Given the description of an element on the screen output the (x, y) to click on. 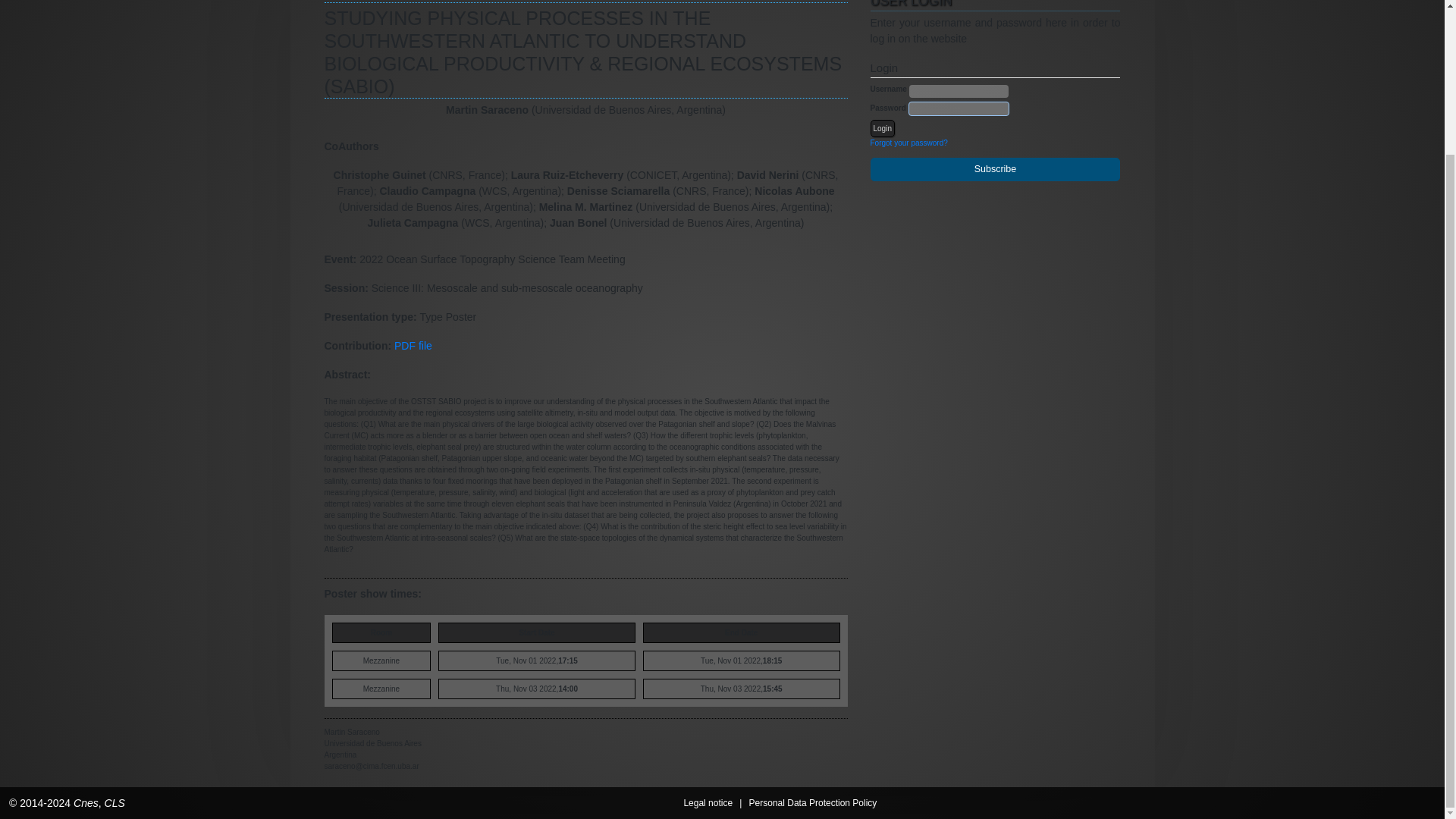
PDF file (413, 345)
Subscribe (995, 169)
Centre National d'Etudes Spatiales (86, 623)
Personal Data Protection Policy (813, 623)
Cnes (86, 623)
Forgot your password? (908, 142)
Collecte Localisation Satellites (114, 623)
Login (882, 127)
Login (882, 127)
CLS (114, 623)
Legal notice (707, 623)
